Given the description of an element on the screen output the (x, y) to click on. 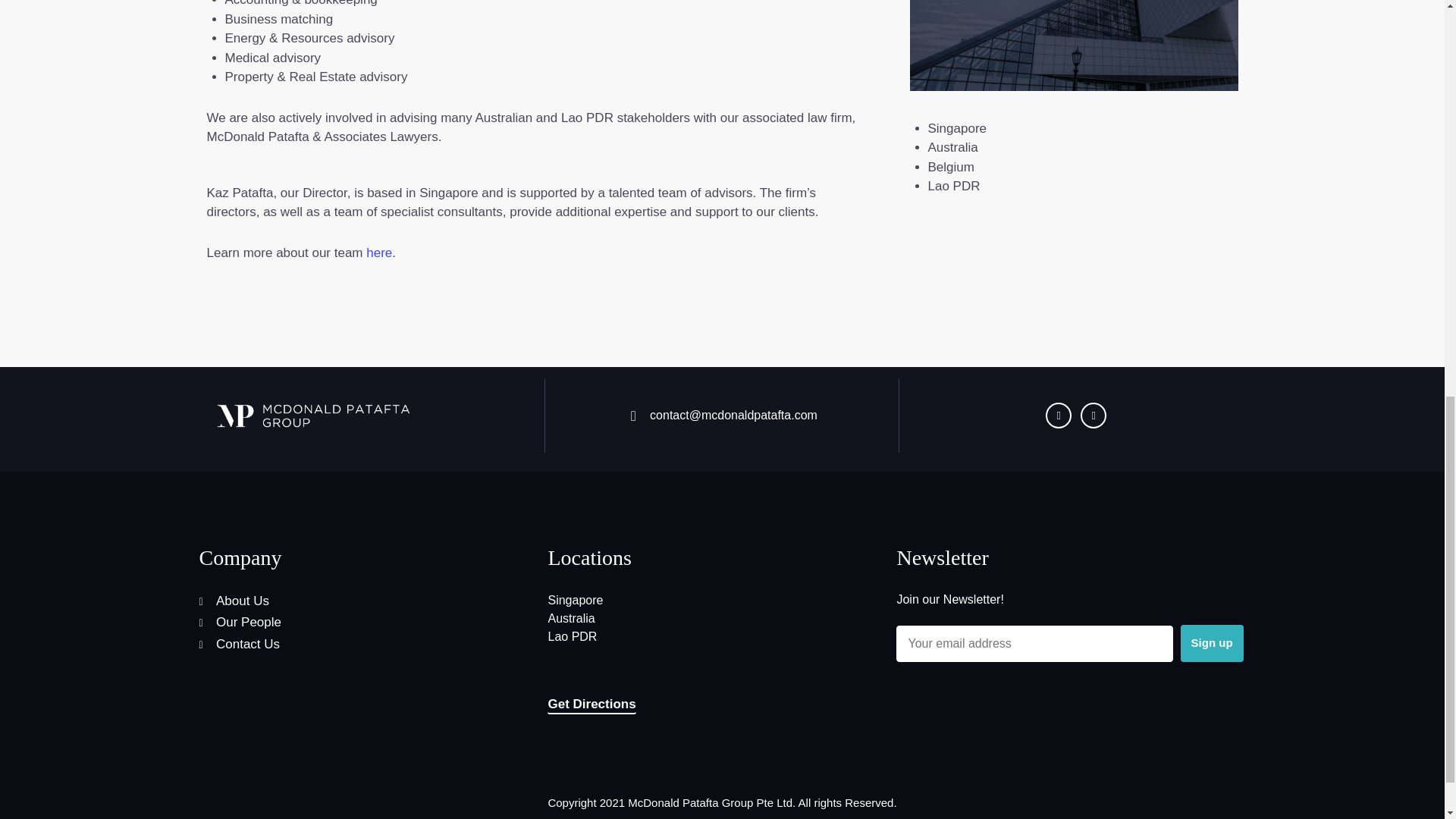
Sign up (1211, 642)
Get Directions (590, 705)
Sign up (1211, 642)
Our People (366, 622)
Contact Us (366, 644)
About Us (366, 600)
here (378, 252)
